Given the description of an element on the screen output the (x, y) to click on. 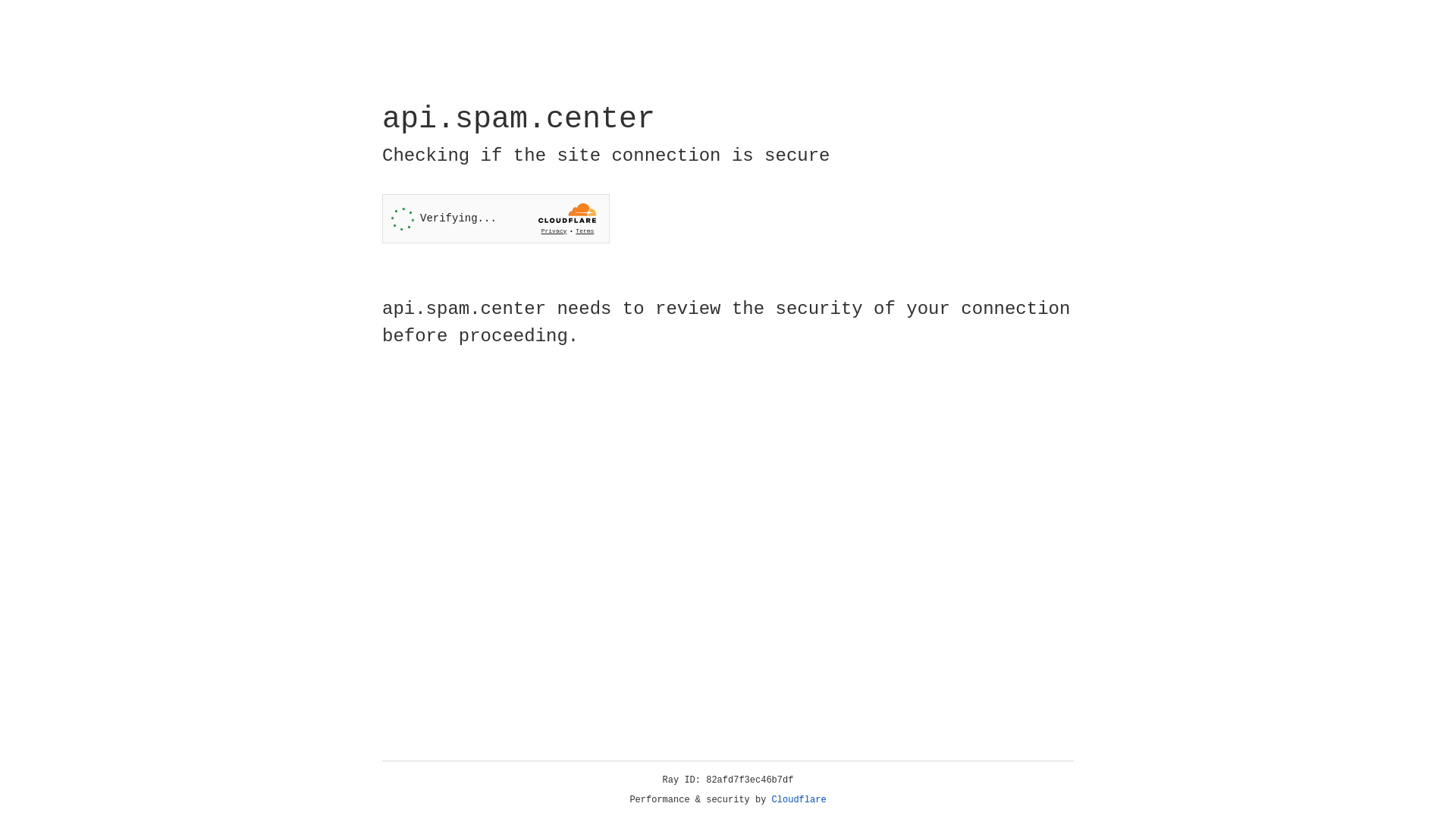
Cloudflare Element type: text (798, 799)
Widget containing a Cloudflare security challenge Element type: hover (495, 218)
